Given the description of an element on the screen output the (x, y) to click on. 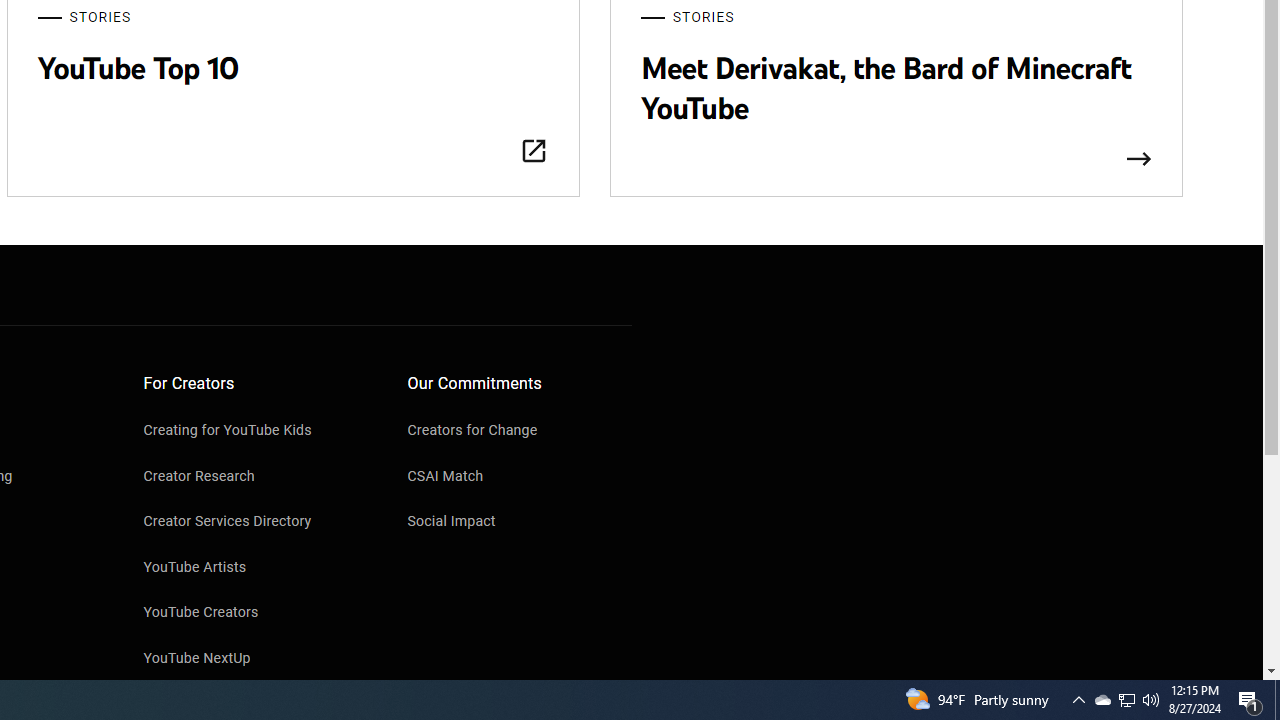
Creating for YouTube Kids (255, 431)
Creators for Change (519, 431)
YouTube Artists (255, 568)
YouTube Creators (255, 614)
Creator Research (255, 478)
YouTube NextUp (255, 659)
Social Impact (519, 523)
CSAI Match (519, 478)
Creator Services Directory (255, 523)
